Given the description of an element on the screen output the (x, y) to click on. 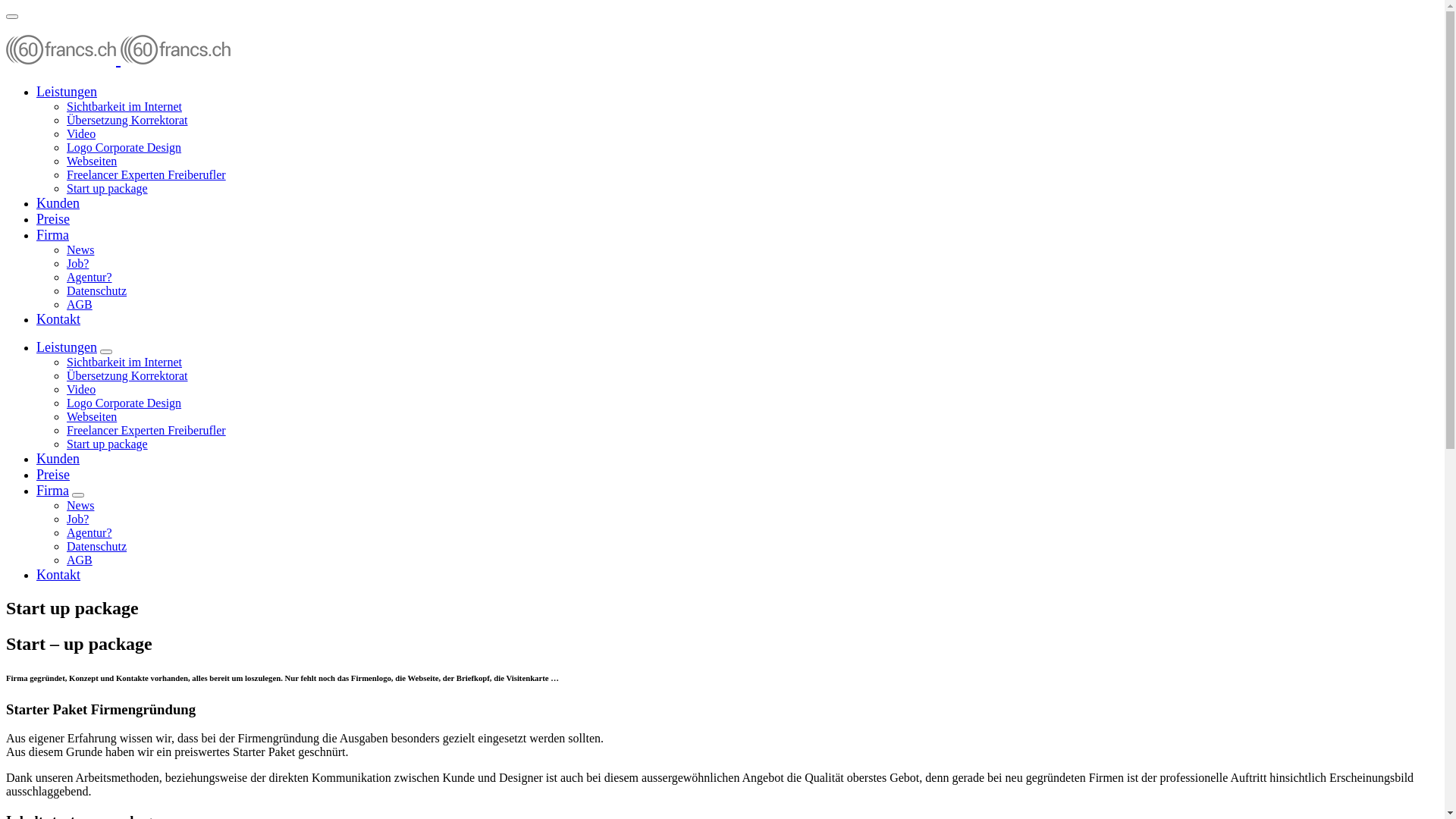
Freelancer Experten Freiberufler Element type: text (145, 174)
Kunden Element type: text (57, 458)
Datenschutz Element type: text (96, 545)
Sichtbarkeit im Internet Element type: text (124, 361)
Preise Element type: text (52, 218)
Job? Element type: text (77, 263)
AGB Element type: text (79, 304)
Leistungen Element type: text (66, 91)
Start up package Element type: text (106, 443)
Agentur? Element type: text (89, 276)
Firma Element type: text (52, 490)
Video Element type: text (80, 388)
Webseiten Element type: text (91, 160)
News Element type: text (80, 249)
Leistungen Element type: text (66, 346)
News Element type: text (80, 504)
Kontakt Element type: text (58, 318)
Kunden Element type: text (57, 202)
Agentur? Element type: text (89, 532)
Start up package Element type: text (106, 188)
Webseiten Element type: text (91, 416)
Firma Element type: text (52, 234)
Logo Corporate Design Element type: text (123, 147)
Logo Corporate Design Element type: text (123, 402)
60francs.ch Element type: hover (118, 58)
Freelancer Experten Freiberufler Element type: text (145, 429)
Kontakt Element type: text (58, 574)
Job? Element type: text (77, 518)
Datenschutz Element type: text (96, 290)
Video Element type: text (80, 133)
Sichtbarkeit im Internet Element type: text (124, 106)
Preise Element type: text (52, 474)
AGB Element type: text (79, 559)
